Given the description of an element on the screen output the (x, y) to click on. 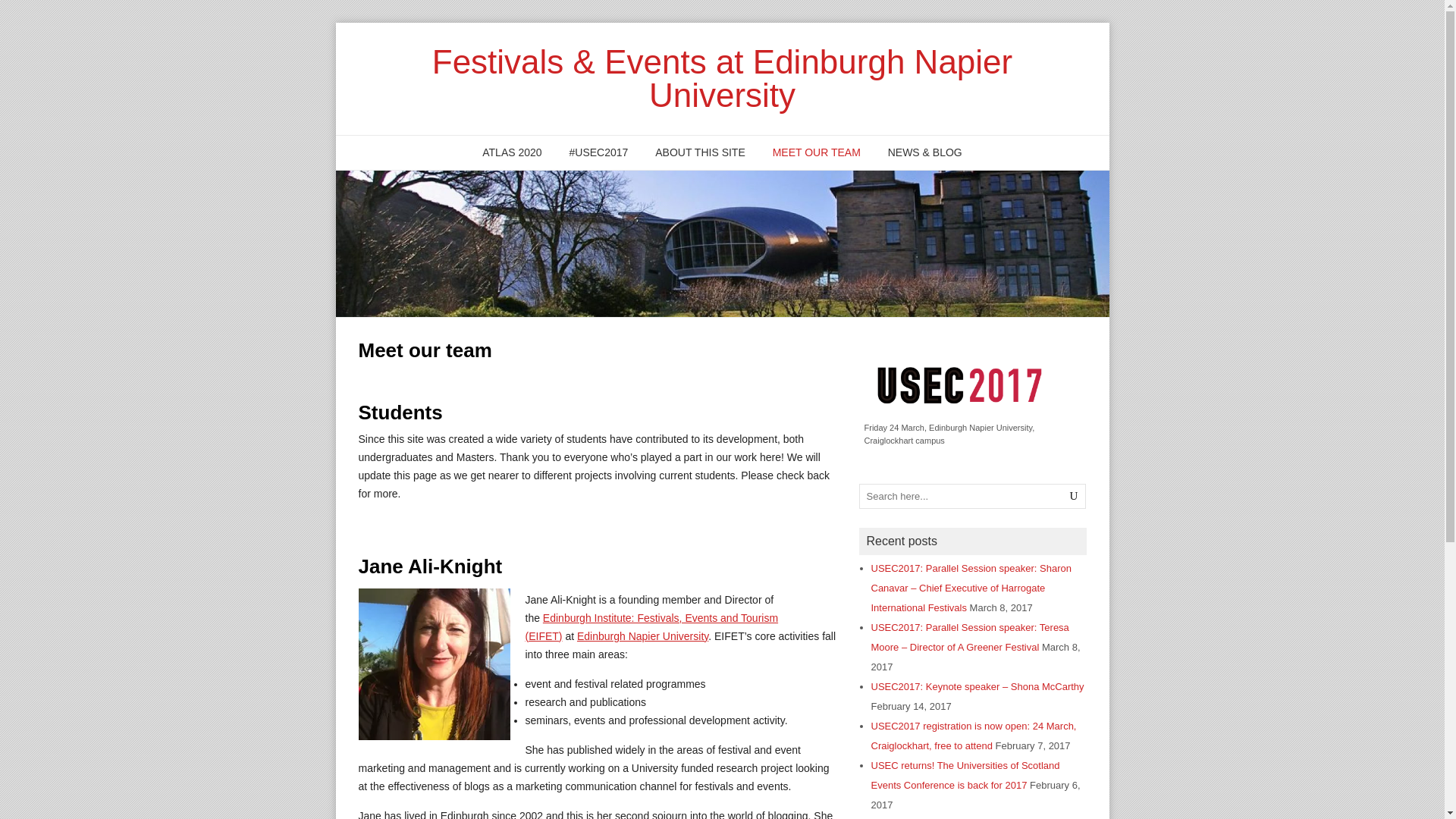
ATLAS 2020 (511, 152)
EIEFT (650, 626)
Edinburgh Napier University (641, 635)
U (1073, 496)
Edinburgh Napier University (641, 635)
U (1073, 496)
MEET OUR TEAM (816, 152)
ABOUT THIS SITE (700, 152)
U (1073, 496)
